Given the description of an element on the screen output the (x, y) to click on. 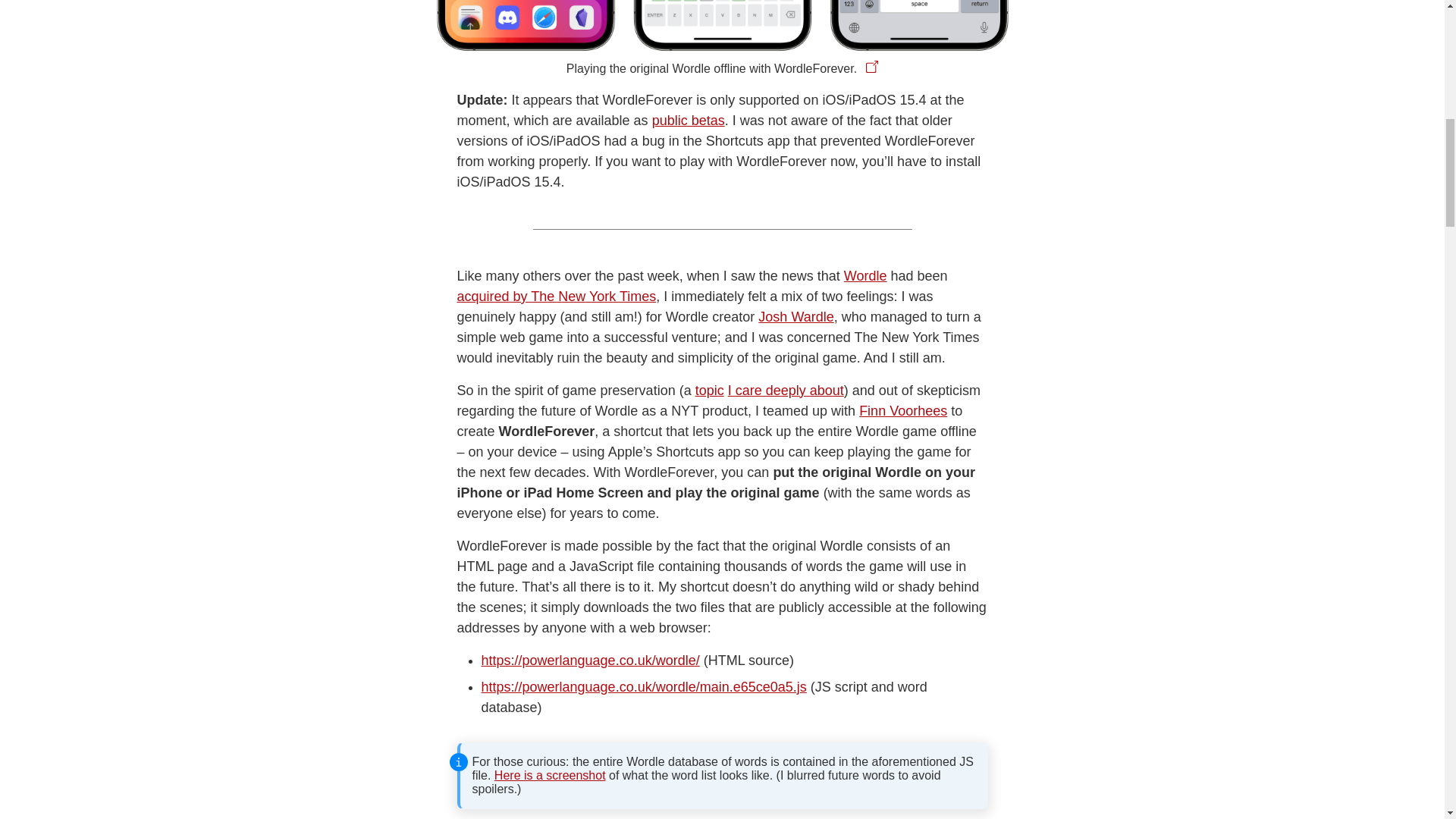
Josh Wardle (795, 316)
Finn Voorhees (903, 410)
Here is a screenshot (550, 775)
I care deeply about (786, 390)
topic (709, 390)
Wordle (865, 275)
acquired by The New York Times (556, 296)
public betas (688, 120)
